Given the description of an element on the screen output the (x, y) to click on. 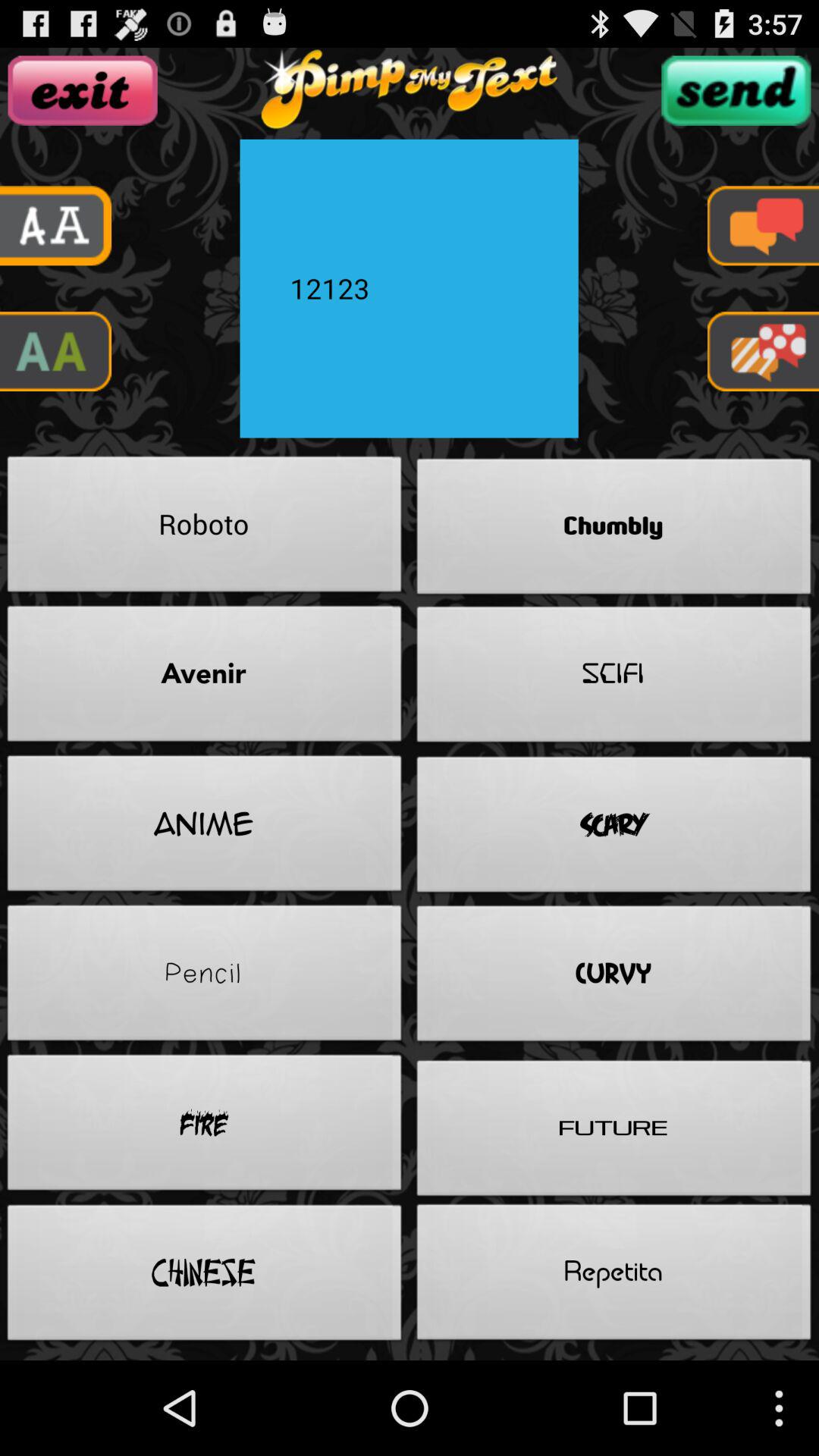
uppercase option (55, 351)
